Given the description of an element on the screen output the (x, y) to click on. 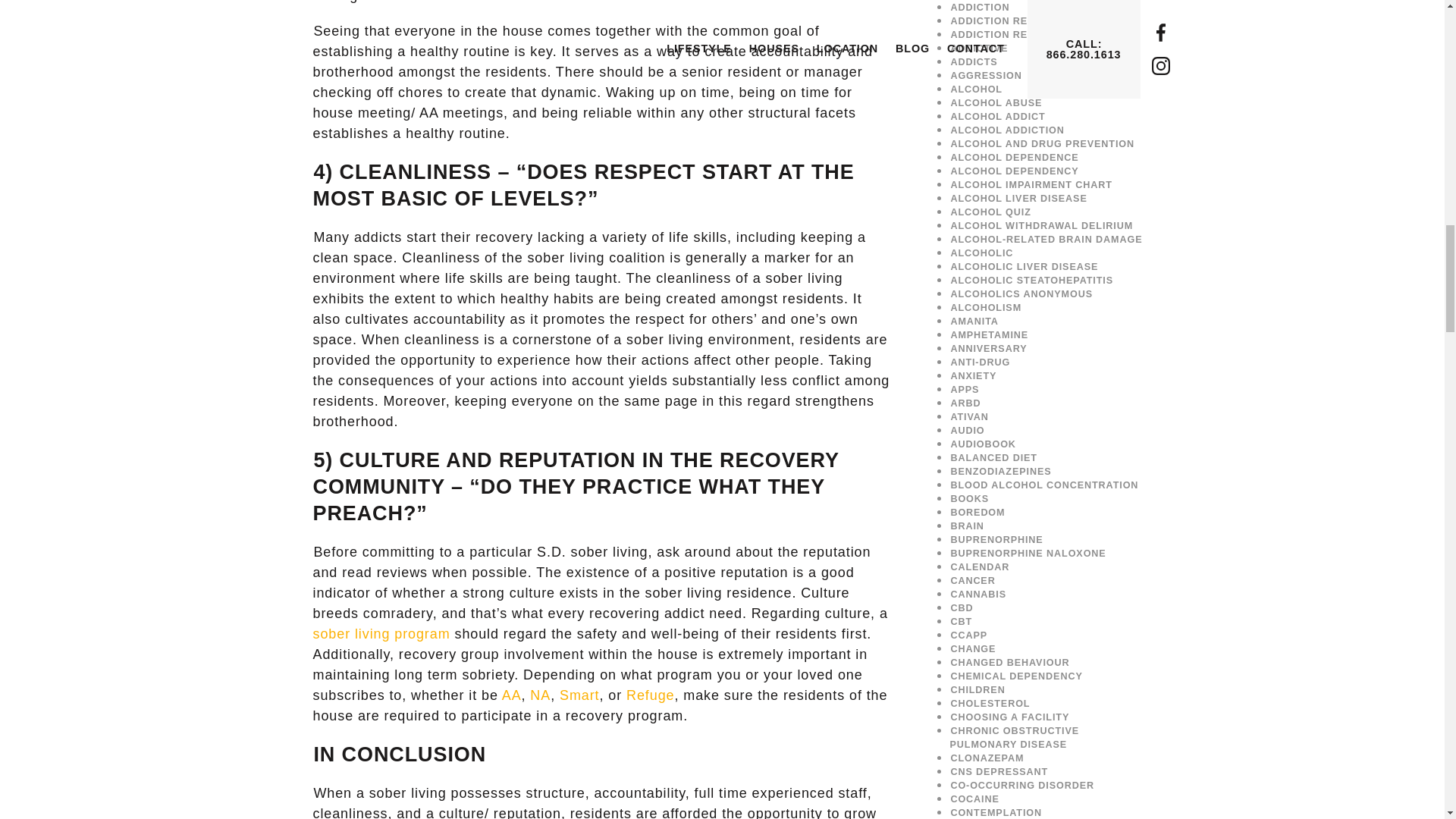
Refuge (650, 694)
addiction recovery gift ideas (1042, 20)
addiction (979, 7)
addiction recovery quotes (1034, 34)
AA (511, 694)
Smart (579, 694)
NA (539, 694)
sober living program (381, 633)
